Given the description of an element on the screen output the (x, y) to click on. 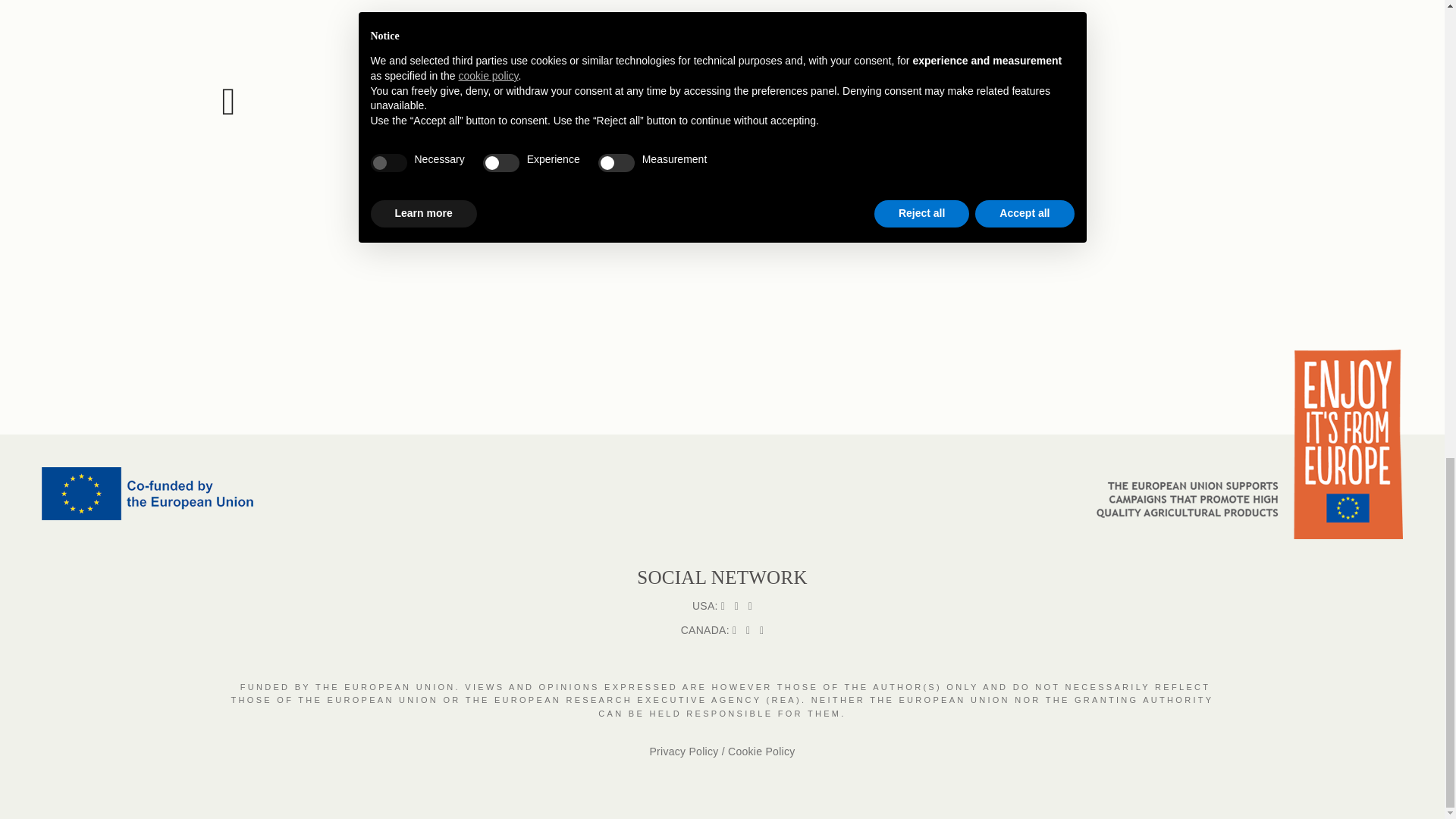
Privacy Policy  (683, 751)
Cookie Policy  (761, 751)
